Given the description of an element on the screen output the (x, y) to click on. 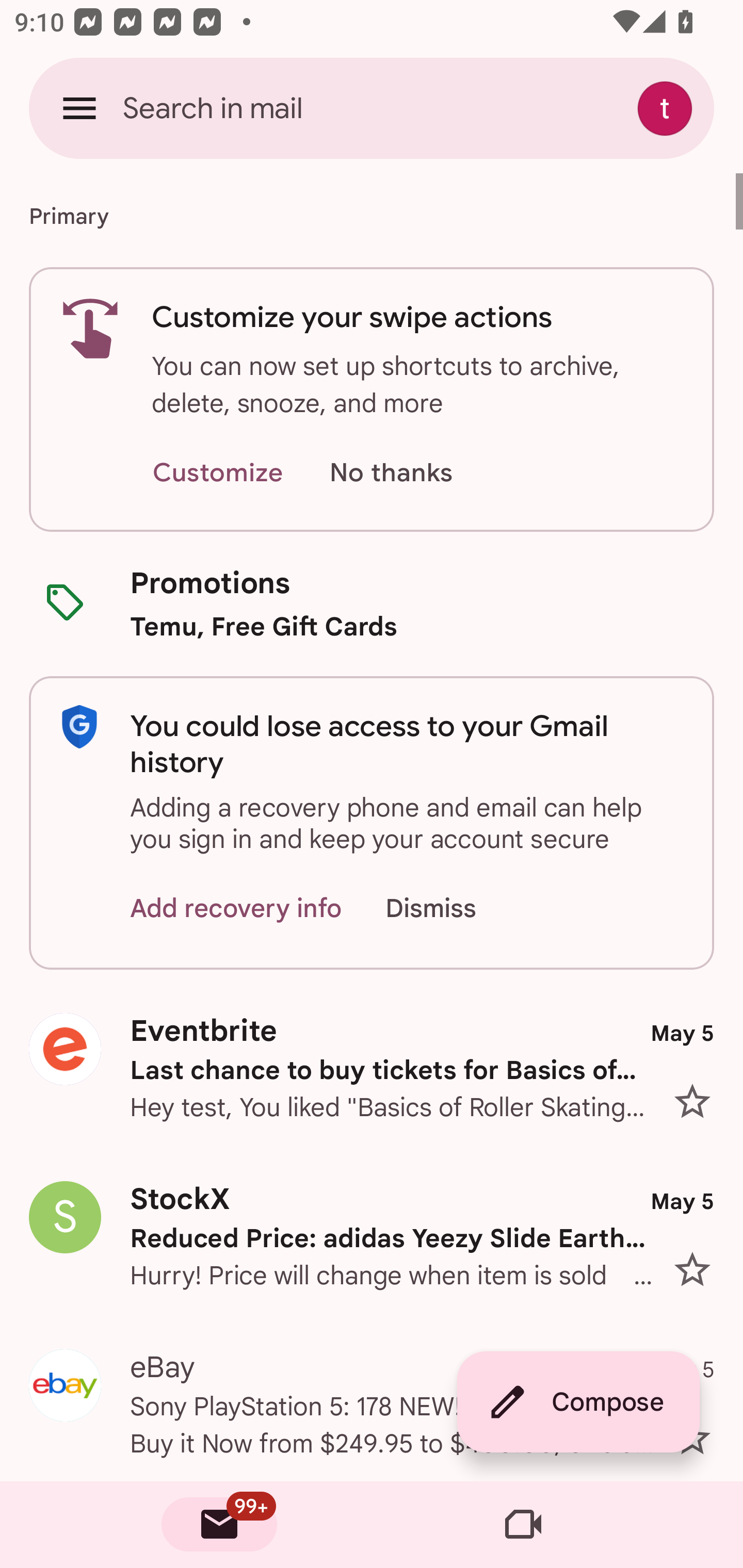
Open navigation drawer (79, 108)
Customize (217, 473)
No thanks (390, 473)
Promotions Temu, Free Gift Cards (371, 603)
Add recovery info (235, 908)
Dismiss (449, 908)
Compose (577, 1401)
Meet (523, 1524)
